Given the description of an element on the screen output the (x, y) to click on. 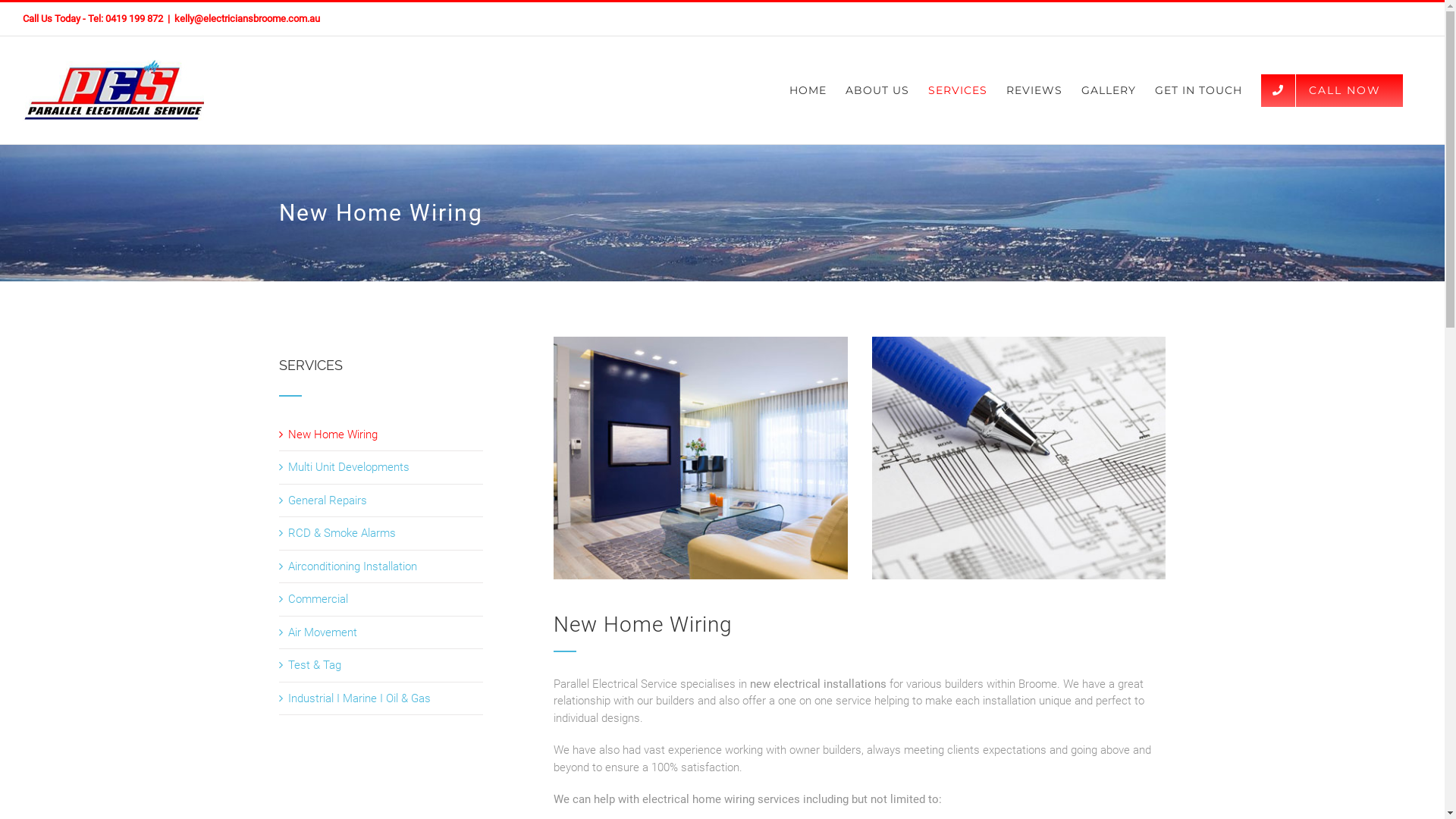
new_home_2 Element type: hover (1019, 457)
kelly@electriciansbroome.com.au Element type: text (247, 18)
CALL NOW Element type: text (1331, 90)
Multi Unit Developments Element type: text (348, 466)
General Repairs Element type: text (327, 500)
ABOUT US Element type: text (877, 90)
REVIEWS Element type: text (1034, 90)
Test & Tag Element type: text (314, 664)
GET IN TOUCH Element type: text (1198, 90)
New Home Wiring Element type: text (332, 434)
Airconditioning Installation Element type: text (352, 566)
Industrial I Marine I Oil & Gas Element type: text (359, 698)
new_home_1 Element type: hover (700, 457)
Commercial Element type: text (318, 598)
0419 199 872 Element type: text (134, 18)
GALLERY Element type: text (1108, 90)
SERVICES Element type: text (957, 90)
HOME Element type: text (807, 90)
Air Movement Element type: text (322, 632)
RCD & Smoke Alarms Element type: text (341, 532)
